Given the description of an element on the screen output the (x, y) to click on. 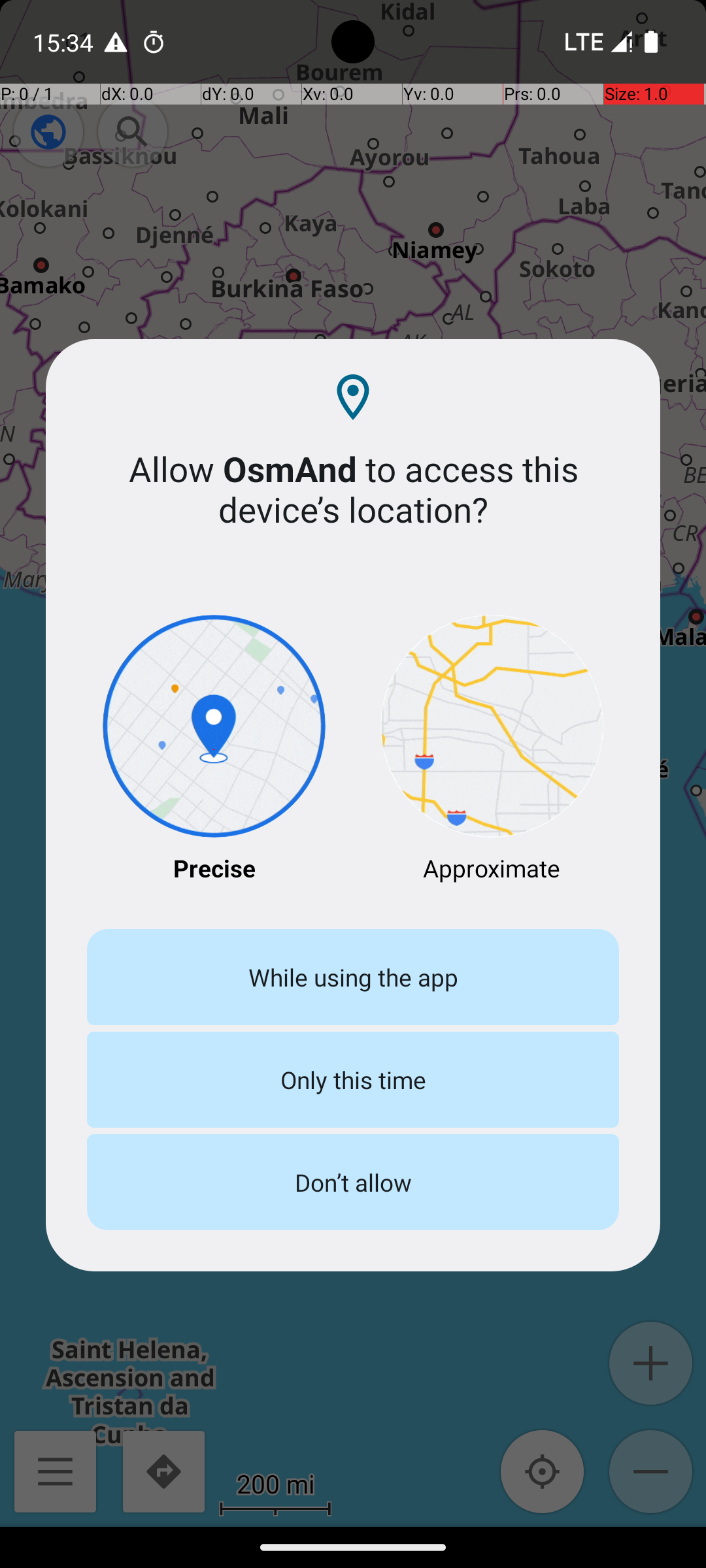
Allow OsmAnd to access this device’s location? Element type: android.widget.TextView (352, 488)
While using the app Element type: android.widget.Button (352, 977)
Only this time Element type: android.widget.Button (352, 1079)
Don’t allow Element type: android.widget.Button (352, 1182)
Precise Element type: android.widget.RadioButton (213, 749)
Approximate Element type: android.widget.RadioButton (491, 749)
